Given the description of an element on the screen output the (x, y) to click on. 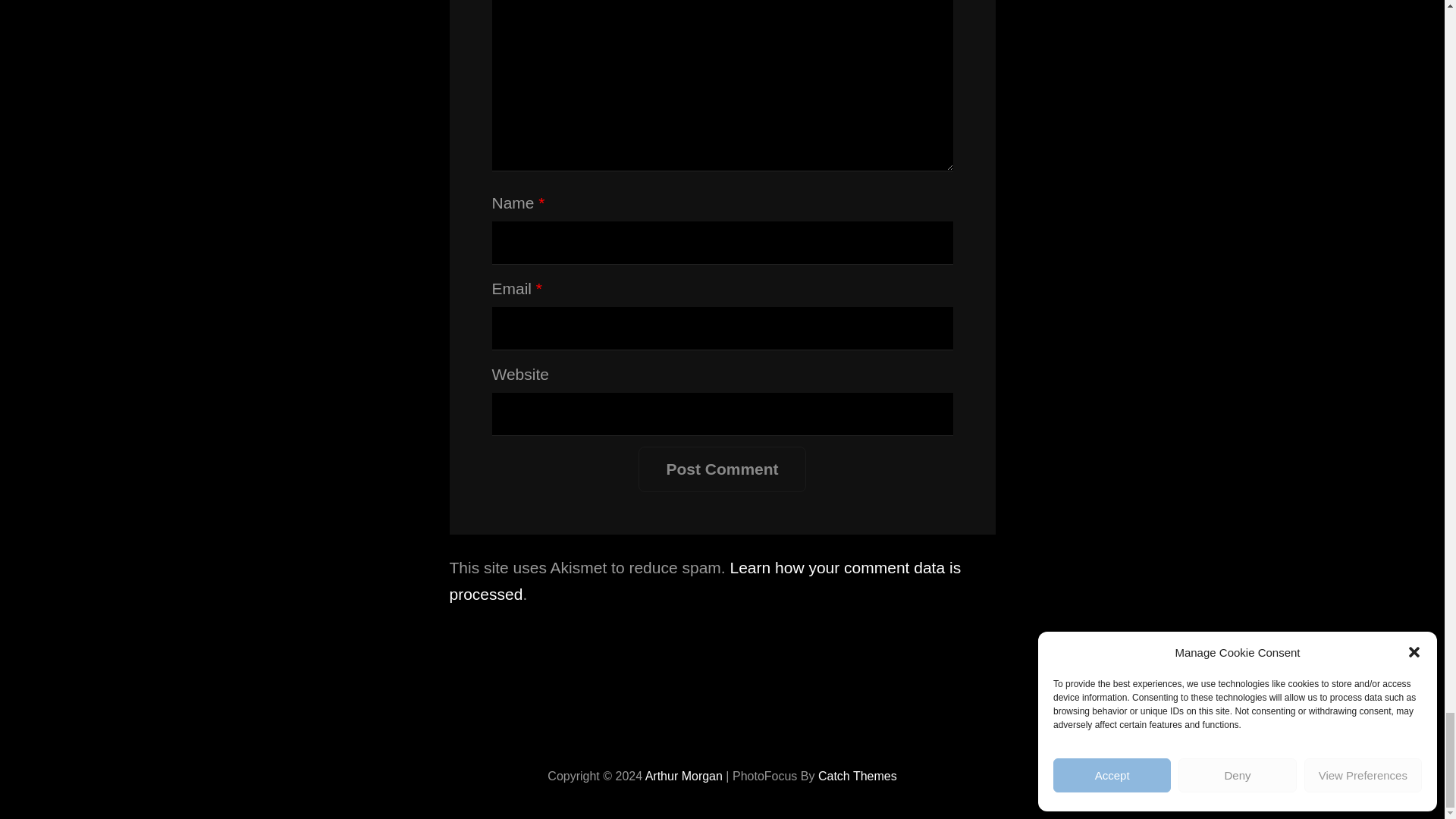
Learn how your comment data is processed (704, 580)
Arthur Morgan (683, 775)
Post Comment (722, 469)
Post Comment (722, 469)
Catch Themes (857, 775)
